Given the description of an element on the screen output the (x, y) to click on. 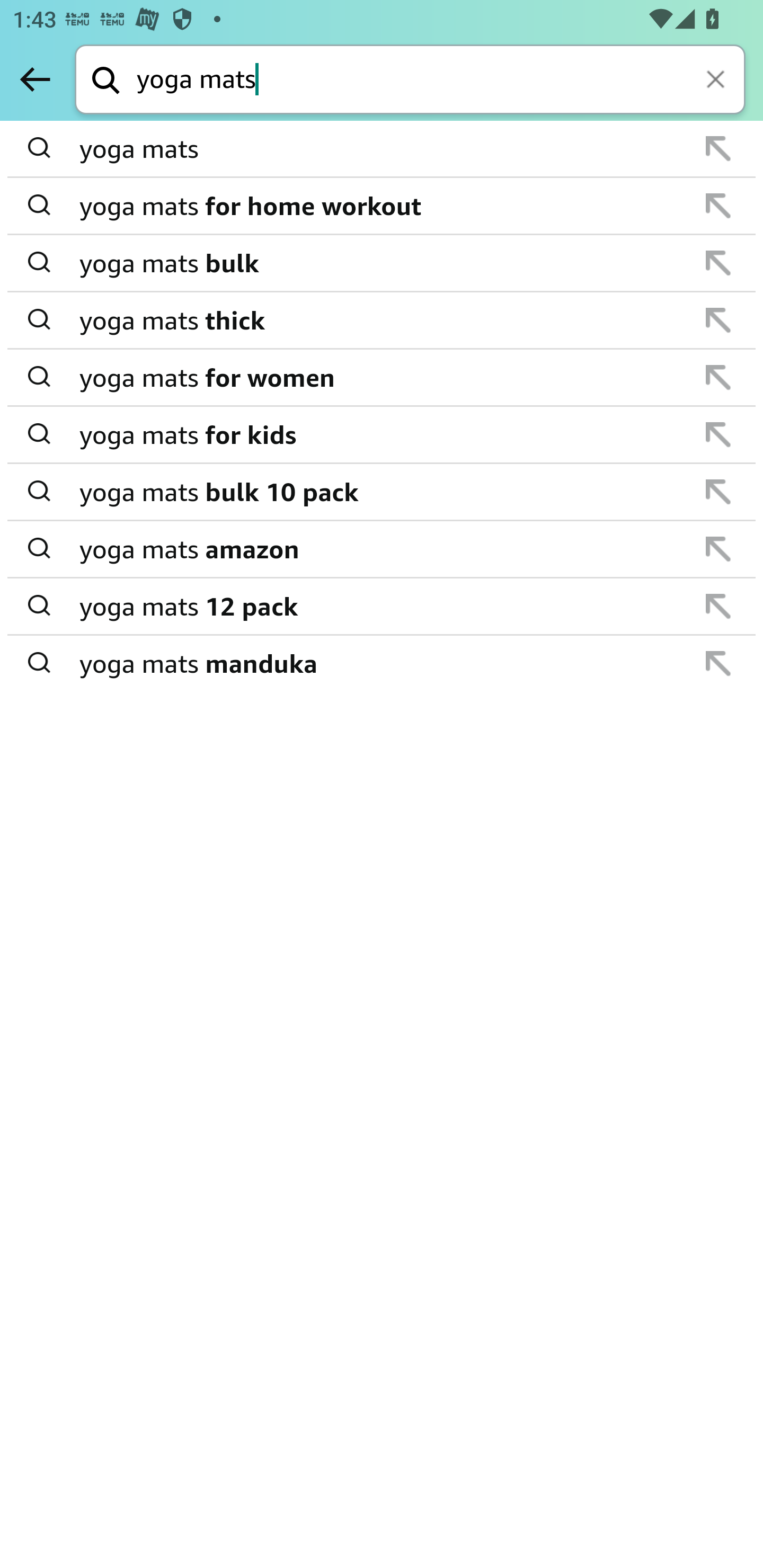
yoga mats (440, 80)
Clear search keywords (717, 80)
Back (35, 78)
append suggestion yoga mats (381, 149)
yoga mats (382, 149)
append suggestion (718, 147)
yoga mats for home workout (382, 205)
append suggestion yoga mats for home workout (381, 206)
append suggestion (718, 205)
yoga mats bulk (382, 262)
append suggestion yoga mats bulk (381, 263)
append suggestion (718, 262)
yoga mats thick (382, 319)
append suggestion yoga mats thick (381, 320)
append suggestion (718, 319)
yoga mats for women (382, 377)
append suggestion yoga mats for women (381, 377)
append suggestion (718, 376)
yoga mats for kids (382, 434)
append suggestion yoga mats for kids (381, 435)
append suggestion (718, 434)
yoga mats bulk 10 pack (382, 491)
append suggestion yoga mats bulk 10 pack (381, 492)
append suggestion (718, 491)
yoga mats amazon (382, 548)
append suggestion yoga mats amazon (381, 549)
append suggestion (718, 548)
yoga mats 12 pack (382, 606)
append suggestion yoga mats 12 pack (381, 606)
append suggestion (718, 605)
yoga mats manduka (382, 662)
append suggestion yoga mats manduka (381, 663)
append suggestion (718, 663)
